Given the description of an element on the screen output the (x, y) to click on. 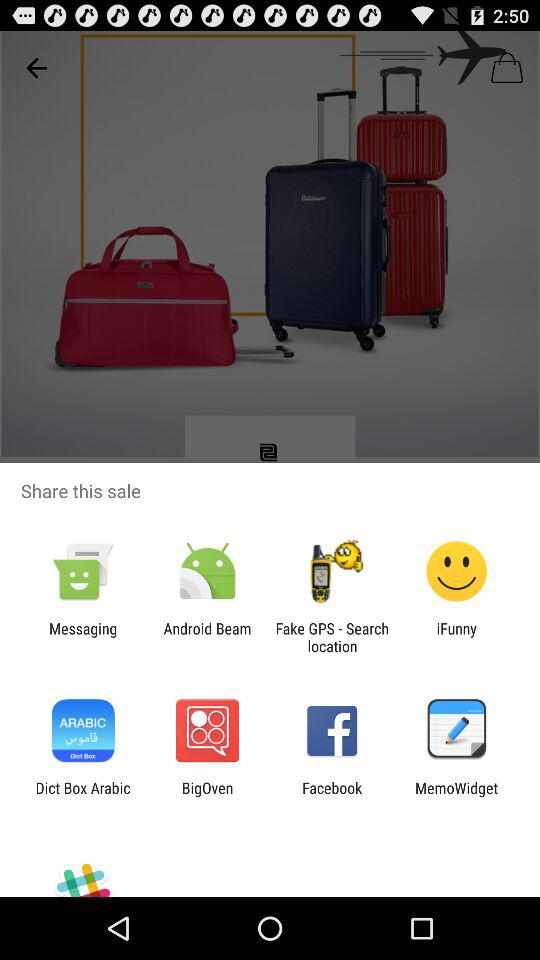
press item to the right of bigoven icon (332, 796)
